Given the description of an element on the screen output the (x, y) to click on. 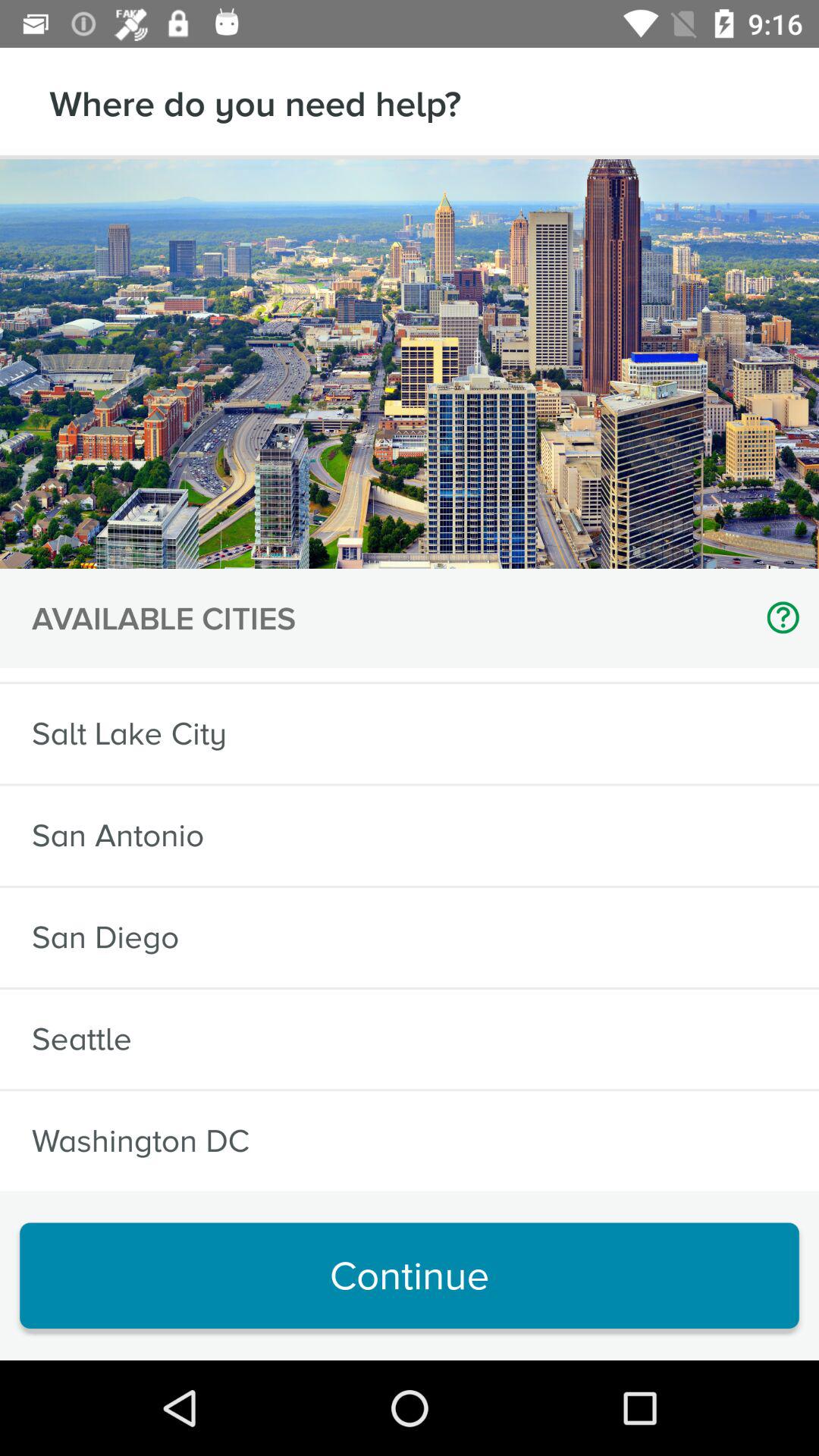
open san diego item (105, 937)
